Given the description of an element on the screen output the (x, y) to click on. 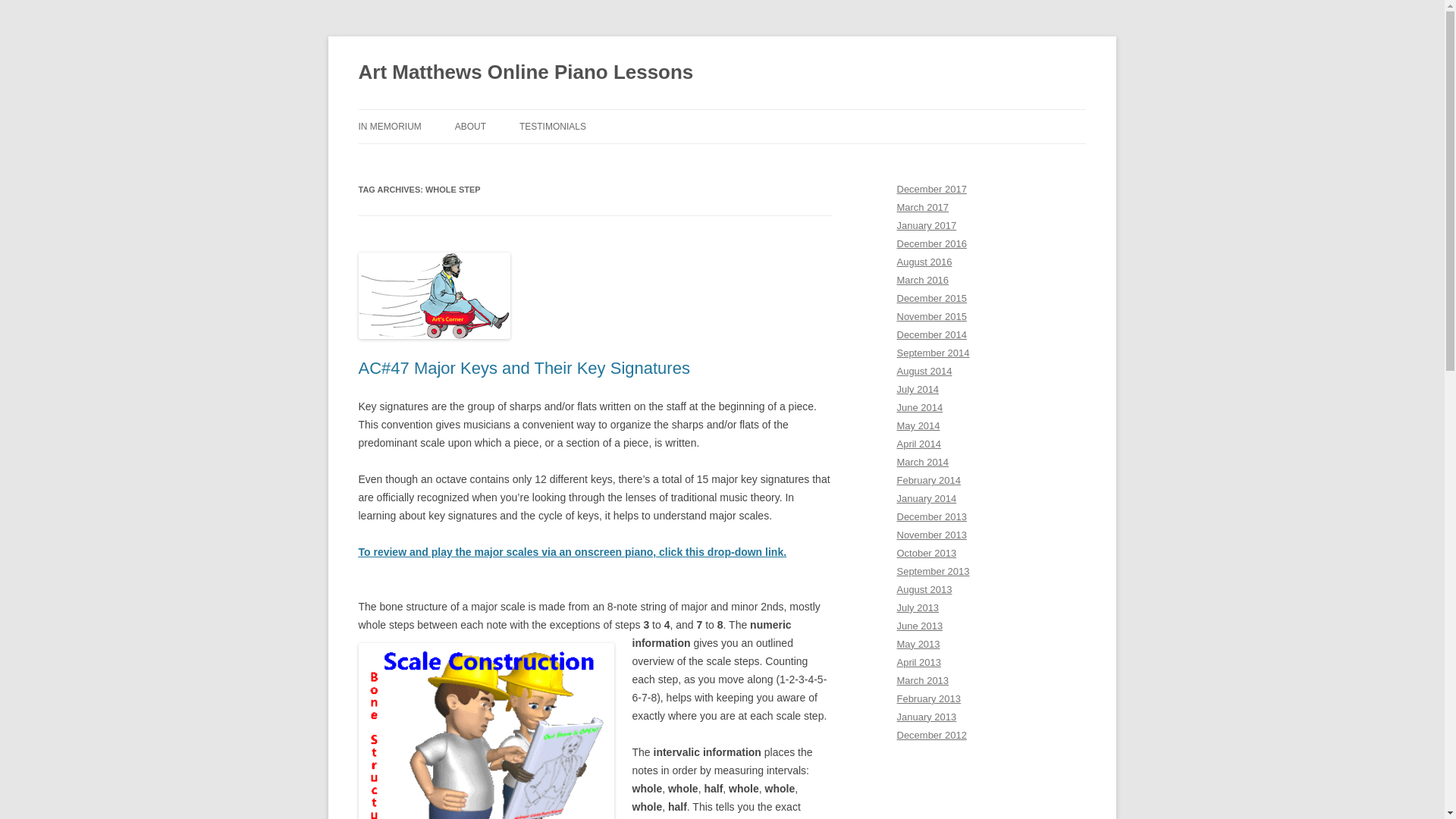
IN MEMORIUM (389, 126)
December 2014 (931, 334)
January 2017 (926, 225)
July 2014 (917, 389)
December 2016 (931, 243)
Art Matthews Online Piano Lessons (525, 72)
August 2016 (924, 261)
March 2016 (922, 279)
December 2017 (931, 188)
Art Matthews Online Piano Lessons (525, 72)
ABOUT (470, 126)
June 2014 (919, 407)
November 2015 (931, 316)
